Given the description of an element on the screen output the (x, y) to click on. 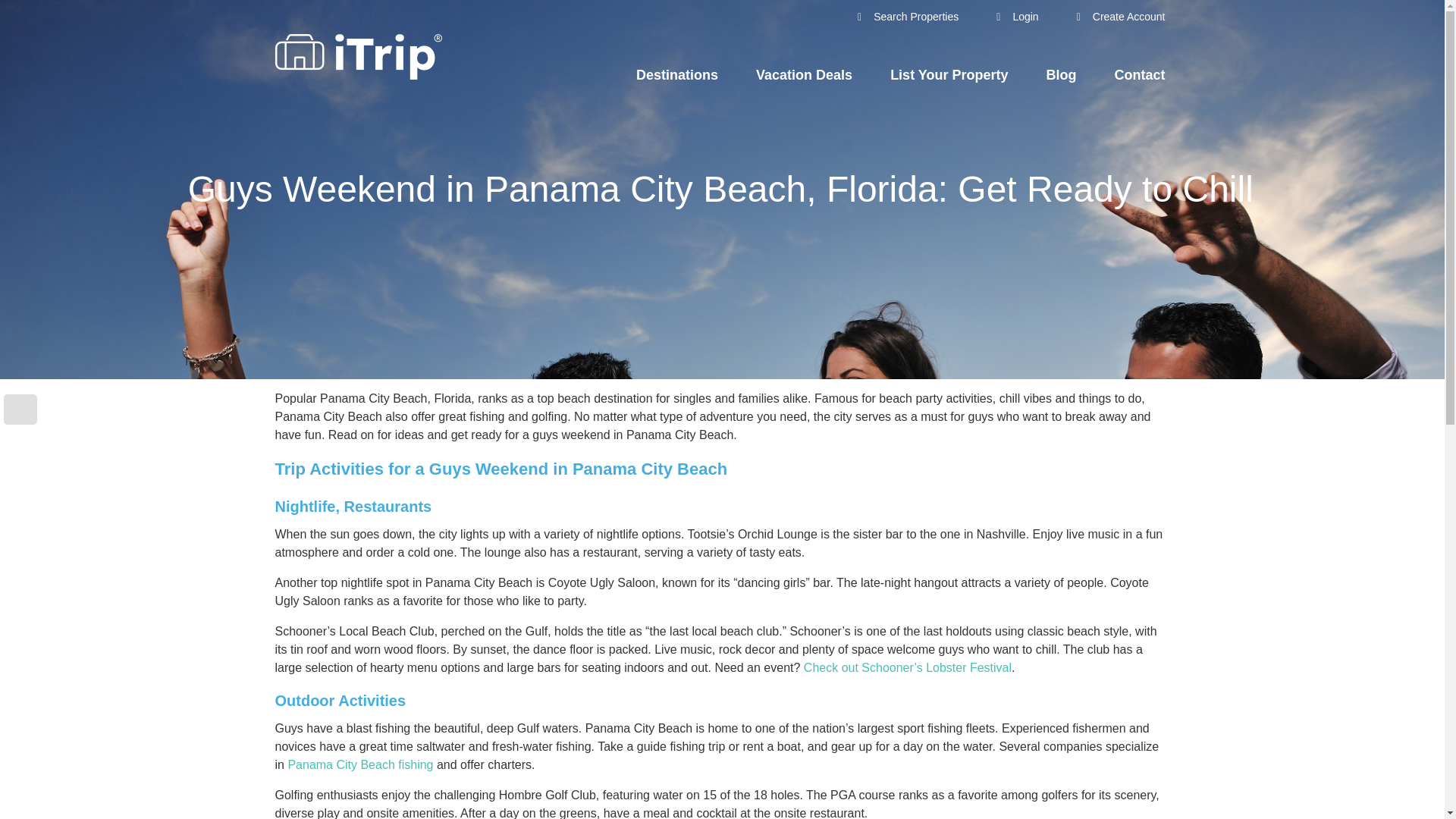
List Your Property (948, 74)
Panama City Beach fishing (359, 764)
Destinations (676, 74)
Contact (1140, 74)
Login (1016, 16)
Blog (1061, 74)
Vacation Deals (803, 74)
Search Properties (907, 16)
Create Account (1121, 16)
